Given the description of an element on the screen output the (x, y) to click on. 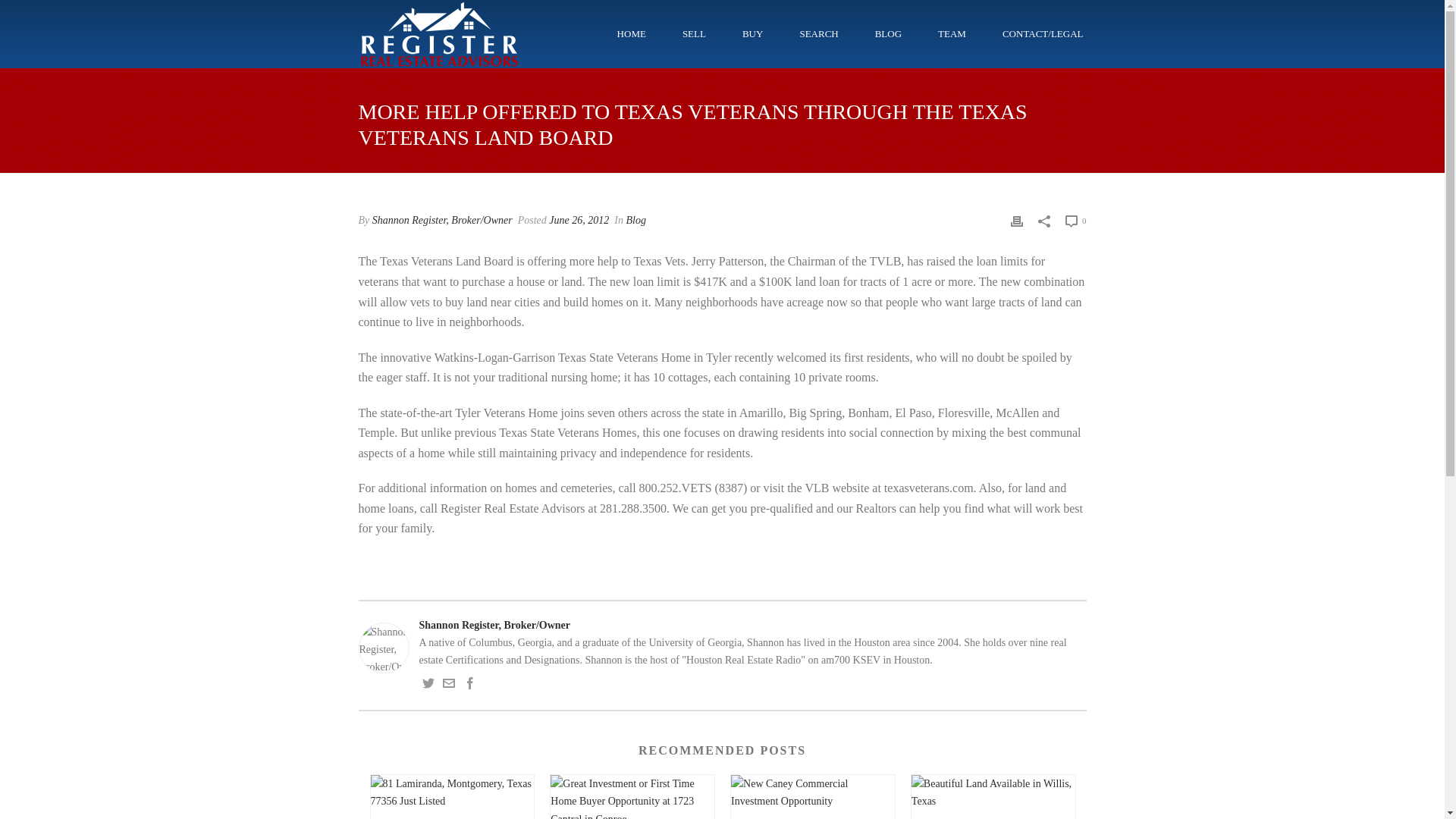
Follow me on Twitter (427, 685)
SEARCH (818, 32)
Spring Texas Real Estate (438, 33)
81 LAMIRANDA, MONTGOMERY, TEXAS 77356 JUST LISTED (451, 814)
June 26, 2012 (578, 220)
Beautiful Land Available in Willis, Texas (993, 791)
81 Lamiranda, Montgomery, Texas 77356 Just Listed (451, 791)
BLOG (888, 32)
TEAM (951, 32)
TEAM (951, 32)
